Given the description of an element on the screen output the (x, y) to click on. 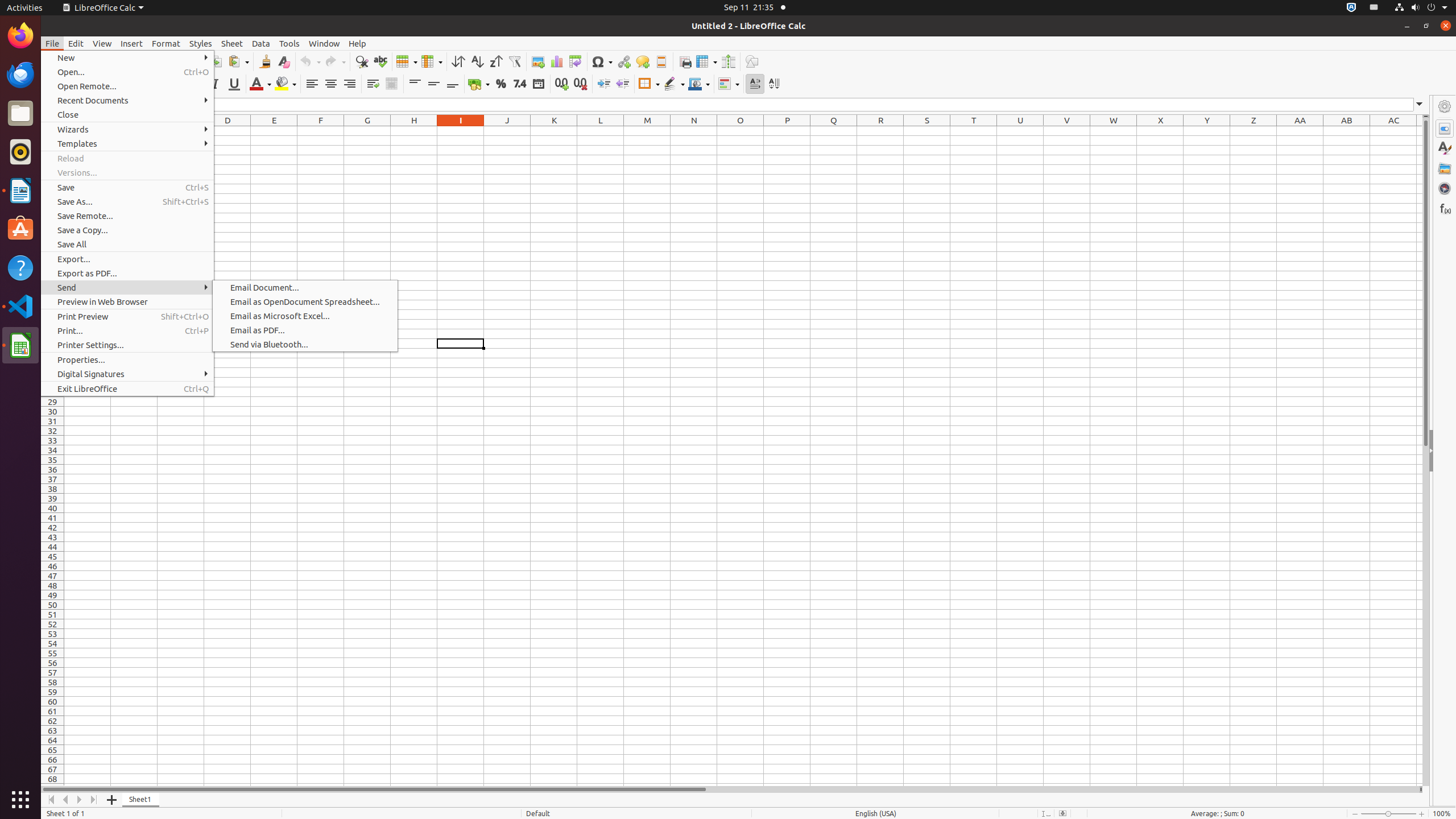
E1 Element type: table-cell (273, 130)
Digital Signatures Element type: menu (126, 373)
Borders (Shift to overwrite) Element type: push-button (648, 83)
Activities Element type: label (24, 7)
